Given the description of an element on the screen output the (x, y) to click on. 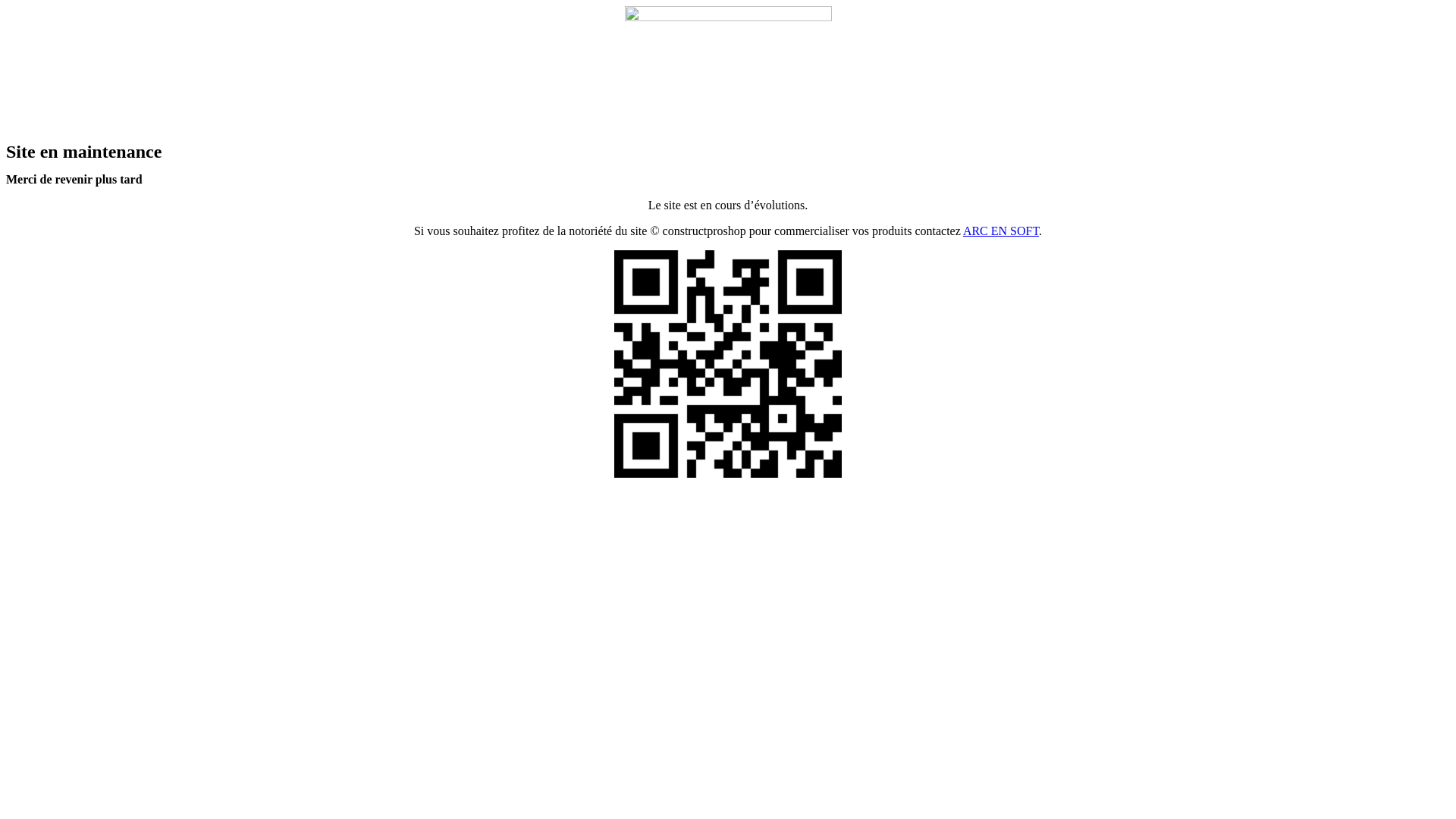
ARC EN SOFT Element type: text (1000, 230)
